Given the description of an element on the screen output the (x, y) to click on. 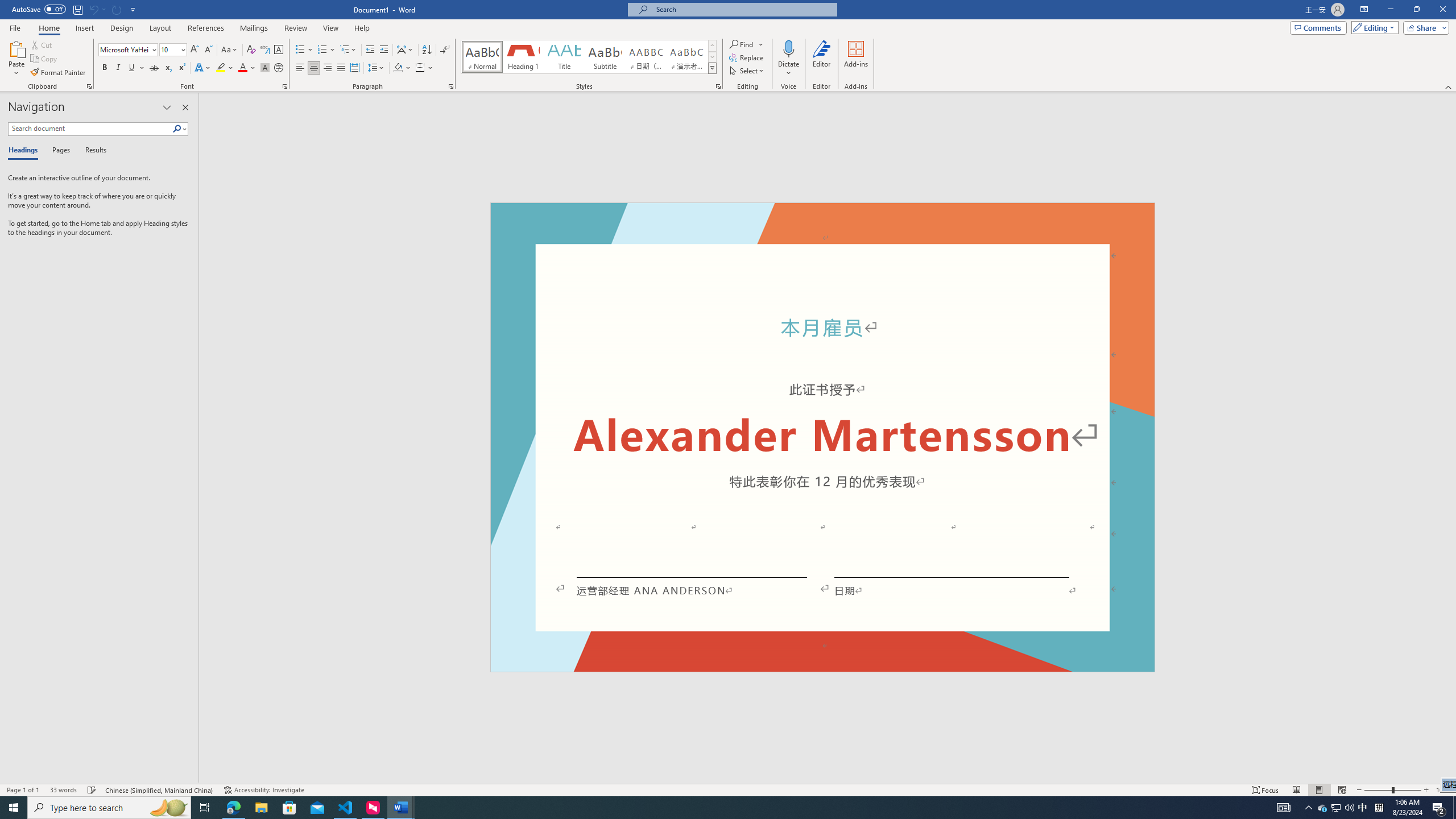
Show/Hide Editing Marks (444, 49)
AutoSave (38, 9)
Font... (285, 85)
Decrease Indent (370, 49)
Shading RGB(0, 0, 0) (397, 67)
Cut (42, 44)
Customize Quick Access Toolbar (133, 9)
Review (295, 28)
Multilevel List (347, 49)
Can't Undo (92, 9)
Font Color Red (241, 67)
Text Highlight Color (224, 67)
